Given the description of an element on the screen output the (x, y) to click on. 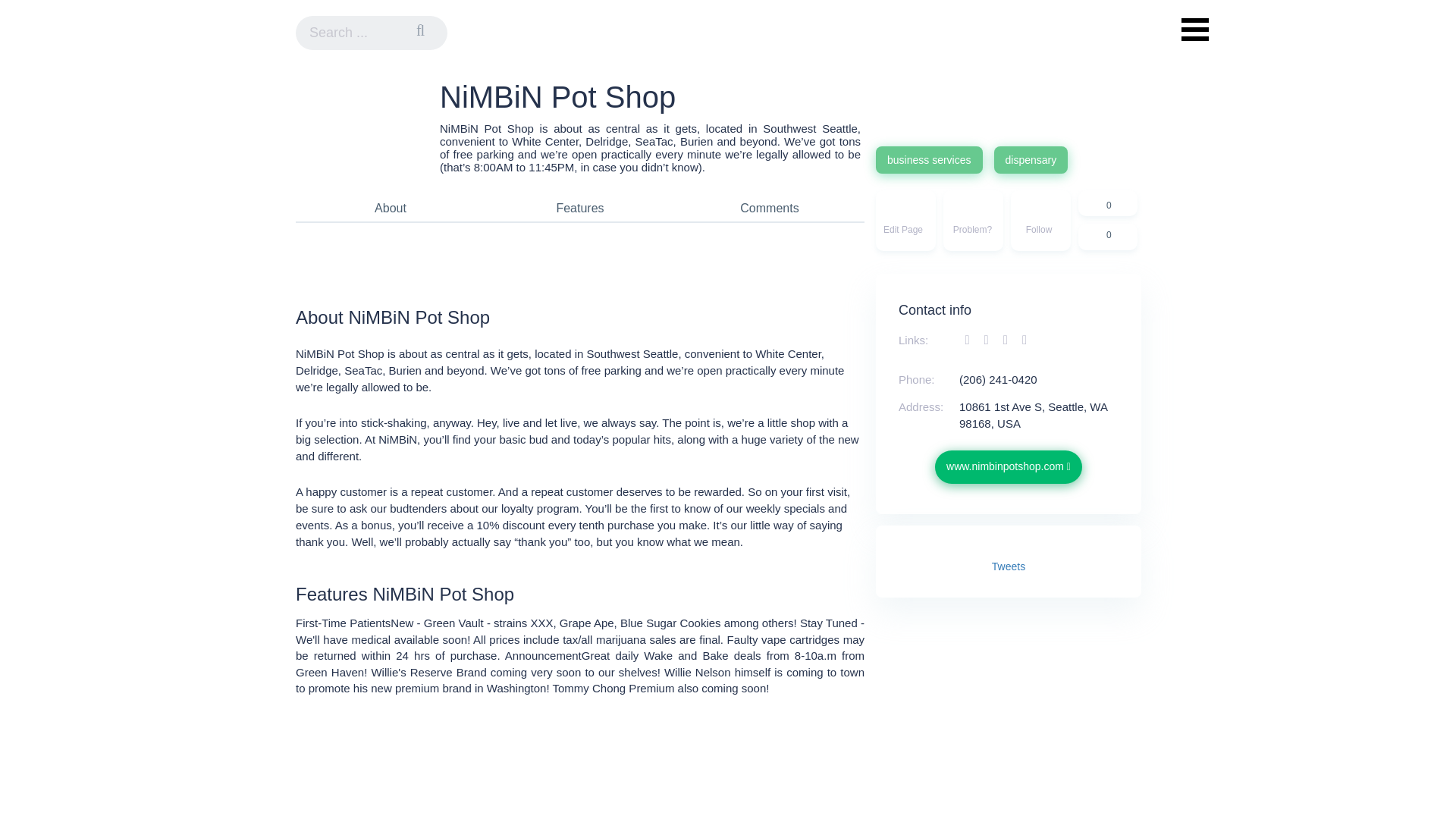
Comments (769, 208)
NiMBiN Pot Shop twitter (987, 339)
Edit Page (906, 220)
Features (579, 208)
Tweets (1008, 566)
To NiMBiN Pot Shop website (1007, 467)
0 (1107, 203)
NiMBiN Pot Shop facebook (968, 339)
Comments (769, 208)
Report a problem (973, 220)
